Given the description of an element on the screen output the (x, y) to click on. 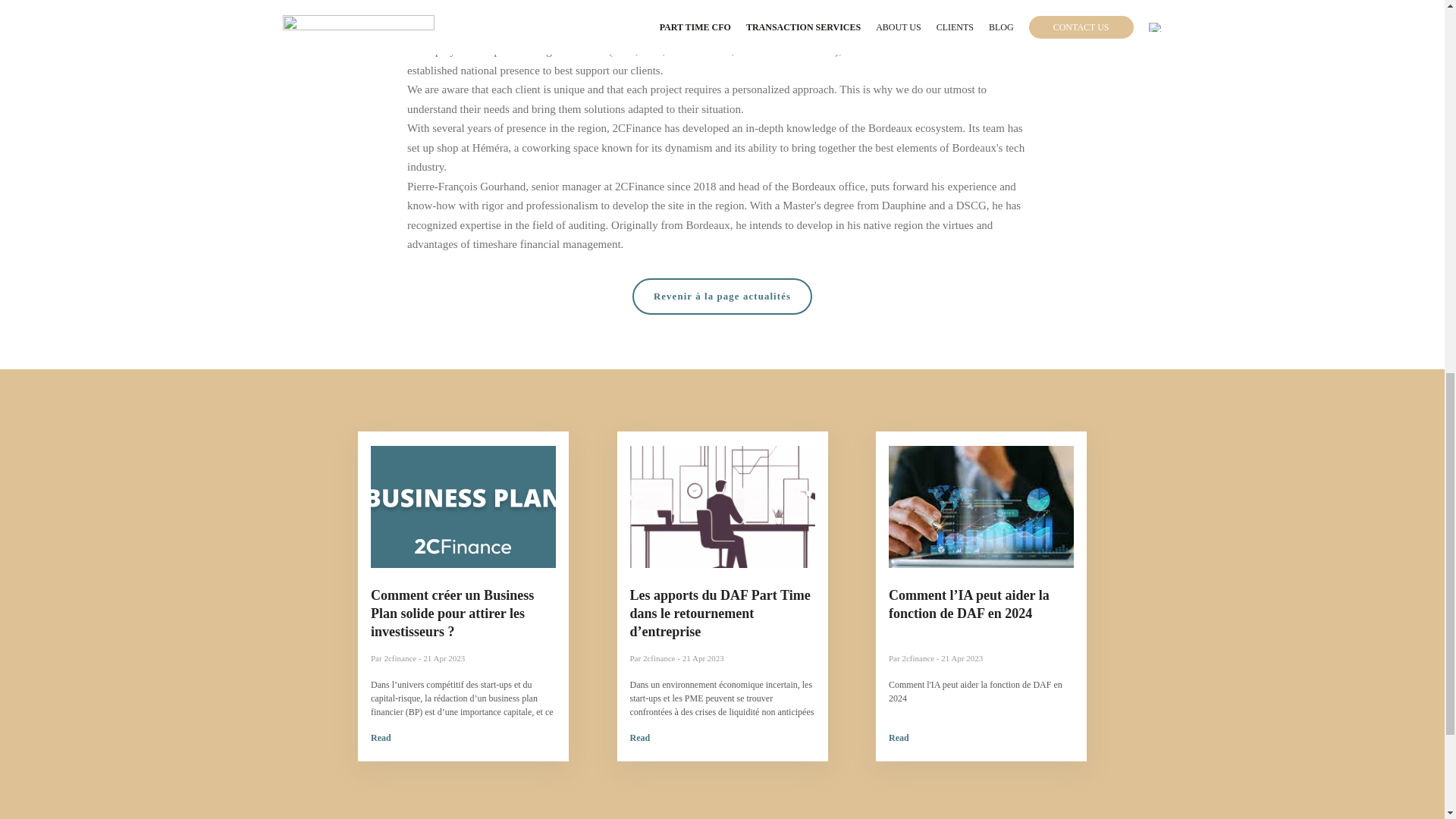
Read (898, 737)
Read (638, 737)
Read (381, 737)
Comment l'IA peut aider la fonction de DAF en 2024 (975, 691)
